Given the description of an element on the screen output the (x, y) to click on. 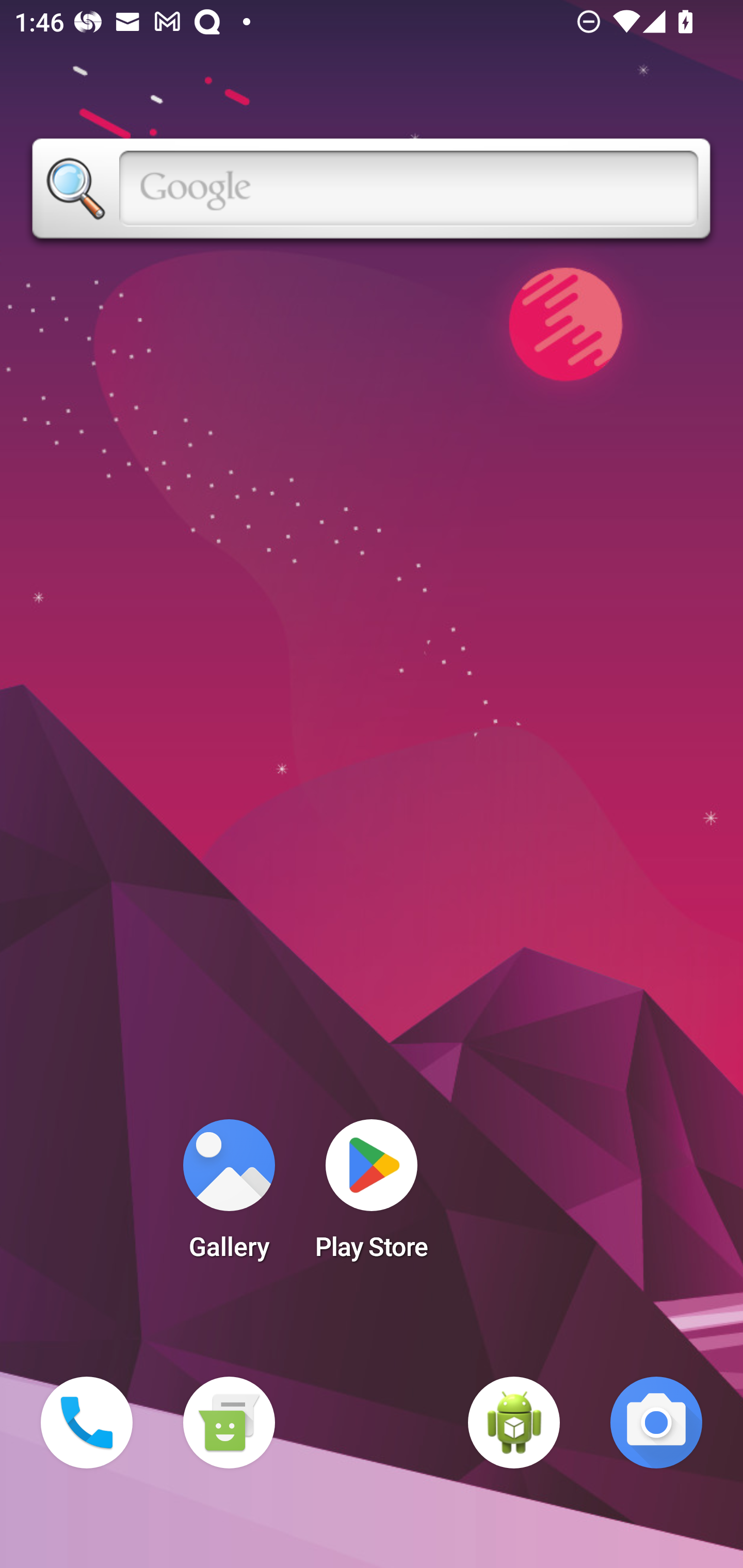
Gallery (228, 1195)
Play Store (371, 1195)
Phone (86, 1422)
Messaging (228, 1422)
WebView Browser Tester (513, 1422)
Camera (656, 1422)
